Given the description of an element on the screen output the (x, y) to click on. 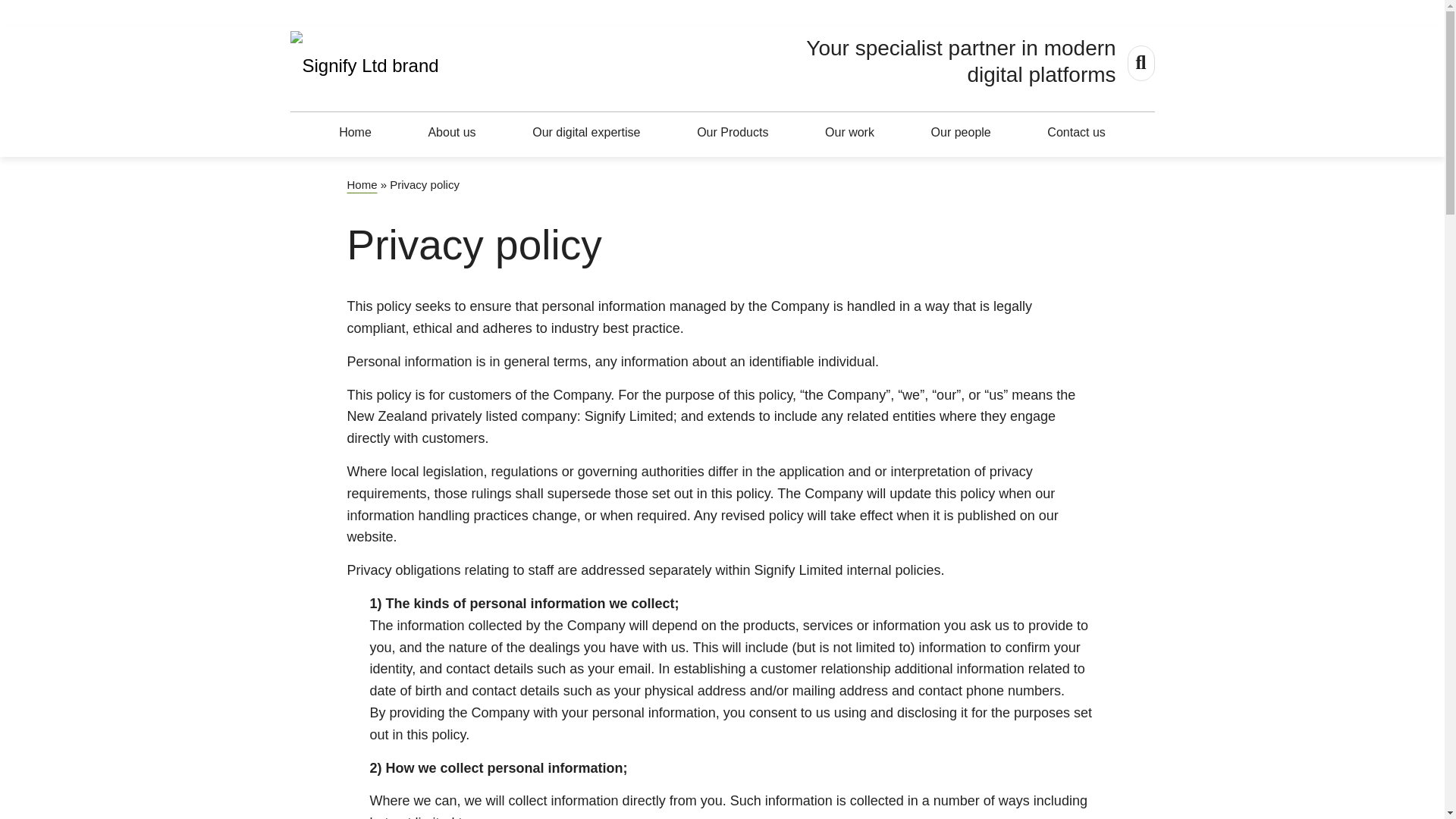
Contact us (1075, 131)
Our Products (732, 131)
Home (354, 131)
Our Products (732, 131)
Home (362, 184)
About us (451, 131)
Home (354, 131)
Our people (960, 131)
Our digital expertise (585, 131)
Our people (960, 131)
Our digital expertise (585, 131)
Contact us (1075, 131)
Our work (849, 131)
Our work (849, 131)
About us (451, 131)
